Given the description of an element on the screen output the (x, y) to click on. 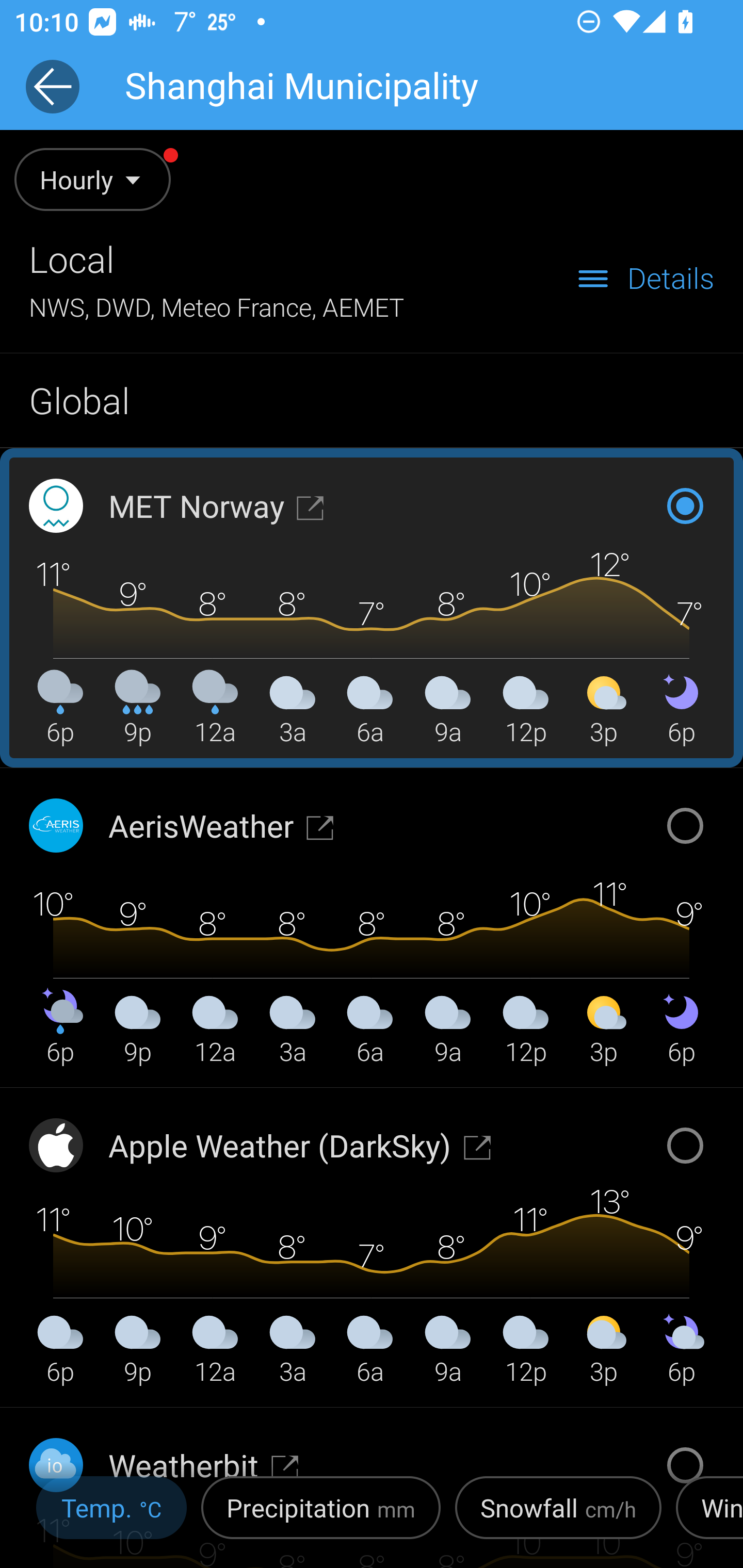
Hourly (103, 193)
Local NWS, DWD, Meteo France, AEMET  Details (371, 278)
6p 9p 12a 3a 6a 9a 12p 3p 6p (371, 606)
MET Norway  (217, 505)
6p 9p 12a 3a 6a 9a 12p 3p 6p (371, 926)
AerisWeather  (222, 825)
6p 9p 12a 3a 6a 9a 12p 3p 6p (371, 1246)
Apple Weather (DarkSky)  (300, 1145)
Weatherbit  (204, 1465)
Temp. °C (110, 1514)
Precipitation mm (320, 1514)
Snowfall cm/h (558, 1514)
